Given the description of an element on the screen output the (x, y) to click on. 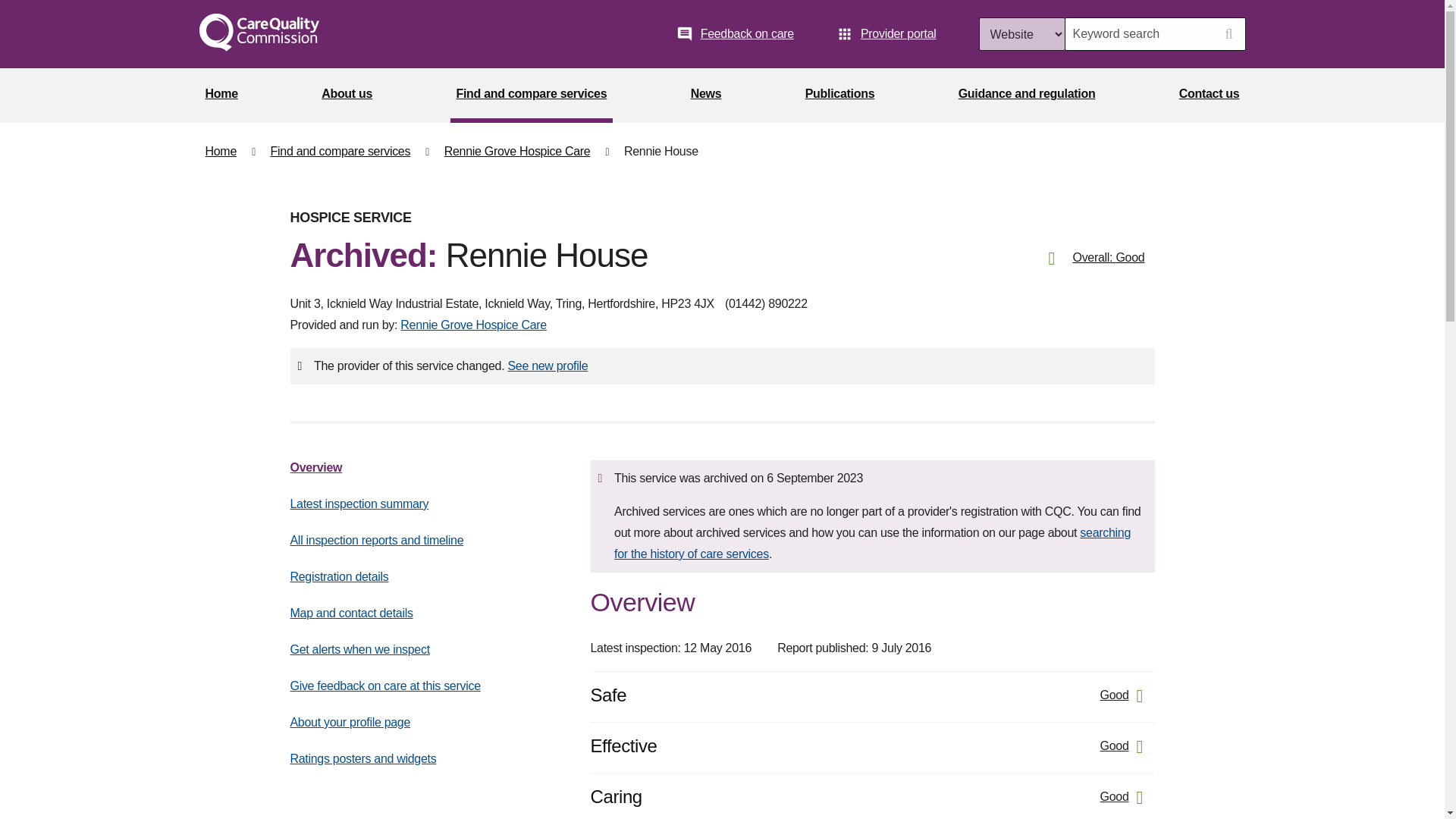
Publications (839, 94)
Overview (315, 467)
Search (1227, 33)
Get alerts when we inspect (359, 649)
All inspection reports and timeline (376, 540)
Contact us (1209, 94)
Find and compare services (530, 94)
Latest inspection summary (358, 503)
Rennie Grove Hospice Care (473, 324)
Guidance and regulation (1027, 94)
